Given the description of an element on the screen output the (x, y) to click on. 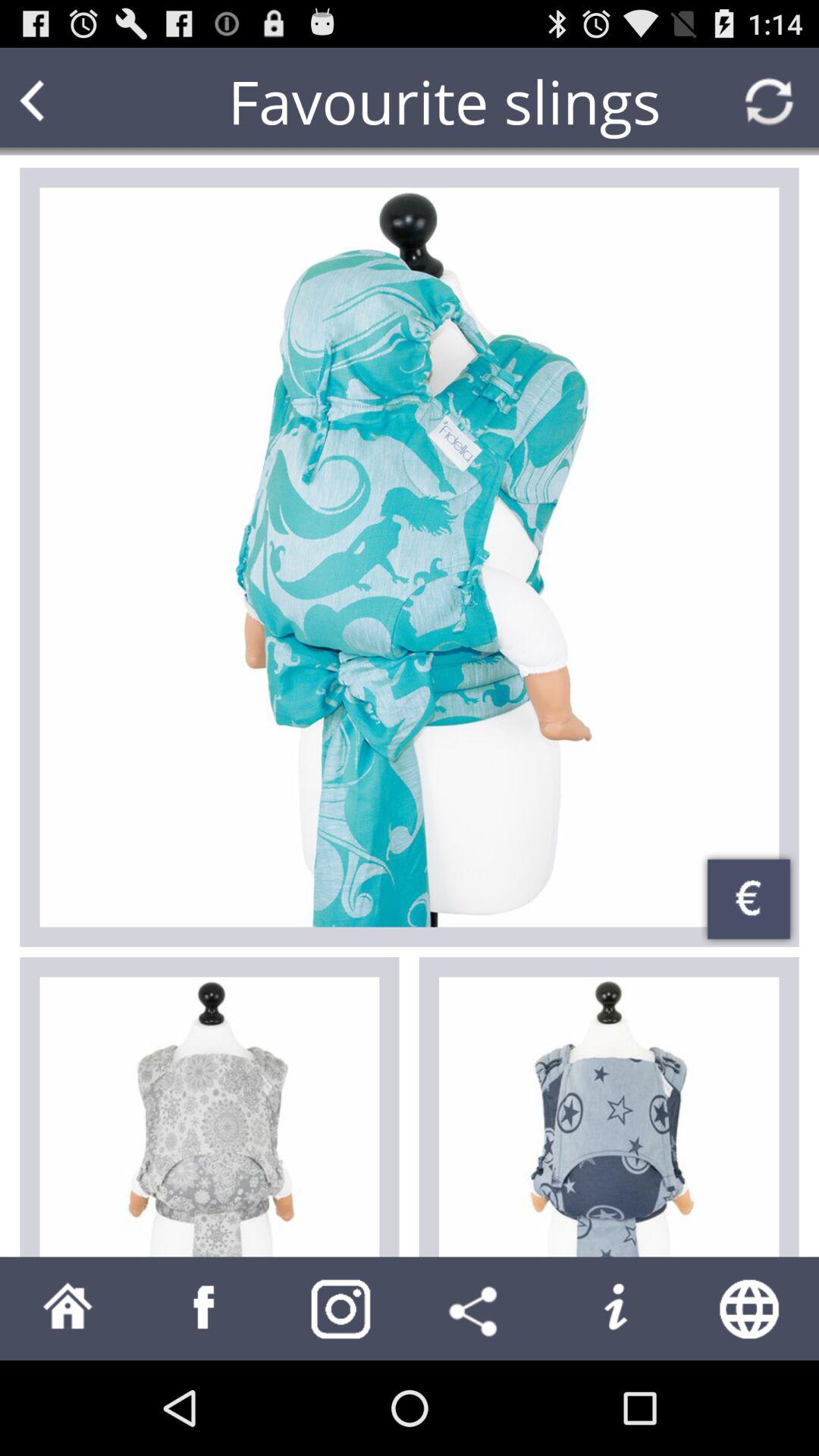
refresh page (769, 101)
